Given the description of an element on the screen output the (x, y) to click on. 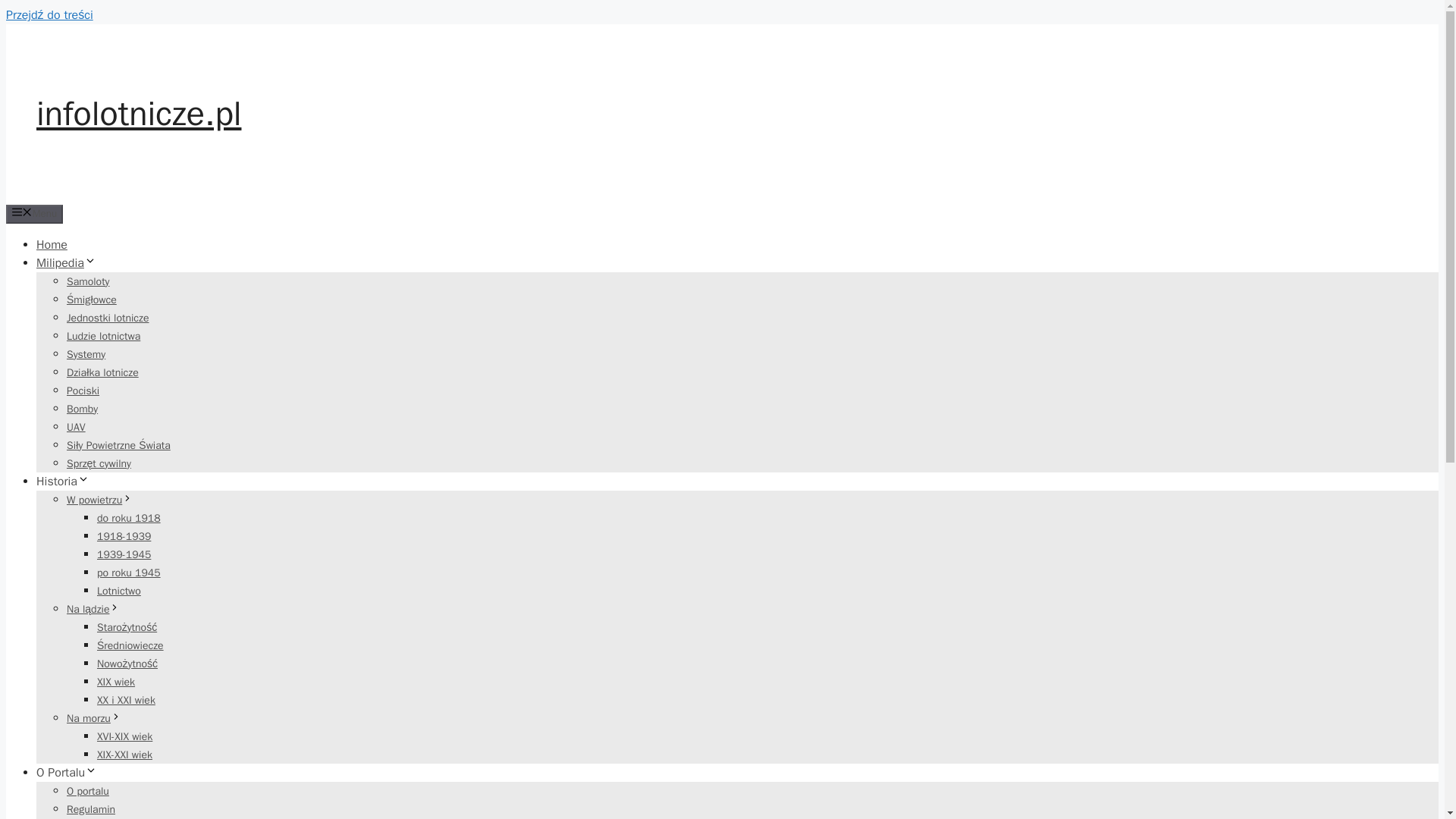
W powietrzu (99, 499)
Systemy (85, 353)
XVI-XIX wiek (124, 735)
Bomby (81, 408)
Milipedia (66, 262)
1939-1945 (124, 553)
O portalu (87, 789)
XX i XXI wiek (126, 698)
Home (51, 243)
do roku 1918 (128, 517)
